Given the description of an element on the screen output the (x, y) to click on. 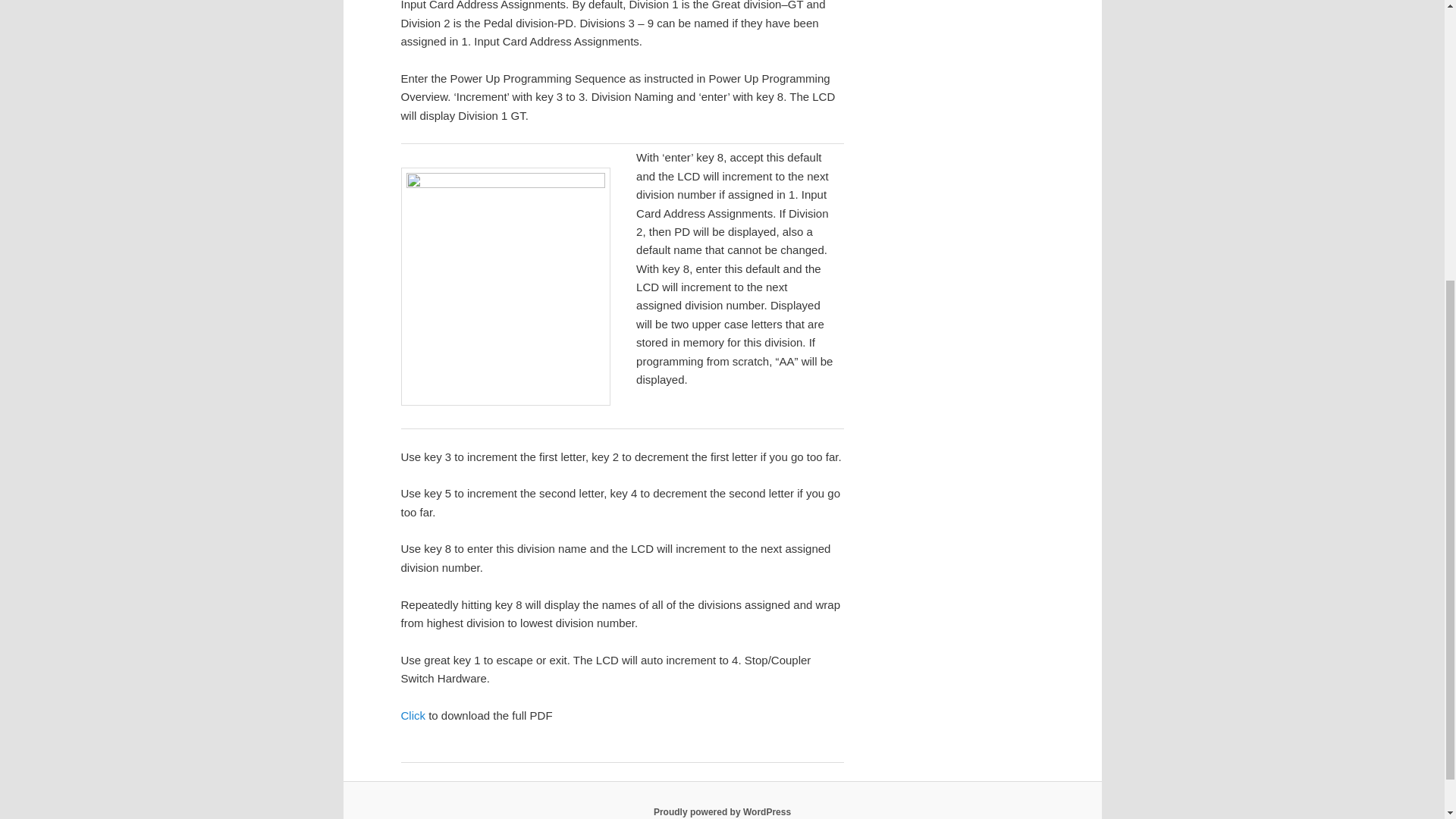
Semantic Personal Publishing Platform (721, 811)
Click (412, 715)
Power Up Programming -CPx (412, 715)
3. Division Naming (505, 286)
Proudly powered by WordPress (721, 811)
